Given the description of an element on the screen output the (x, y) to click on. 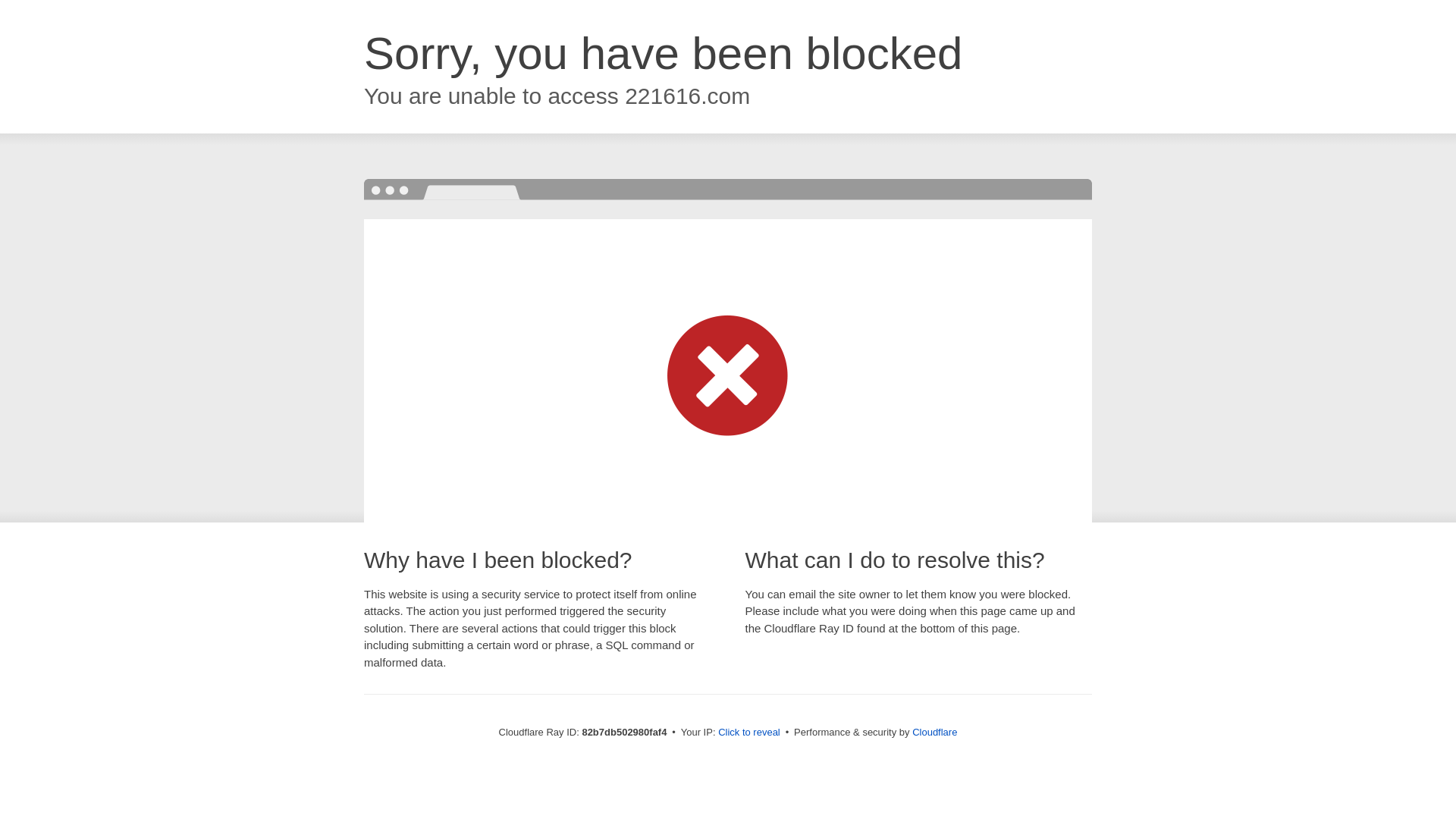
Click to reveal Element type: text (749, 732)
Cloudflare Element type: text (934, 731)
